Given the description of an element on the screen output the (x, y) to click on. 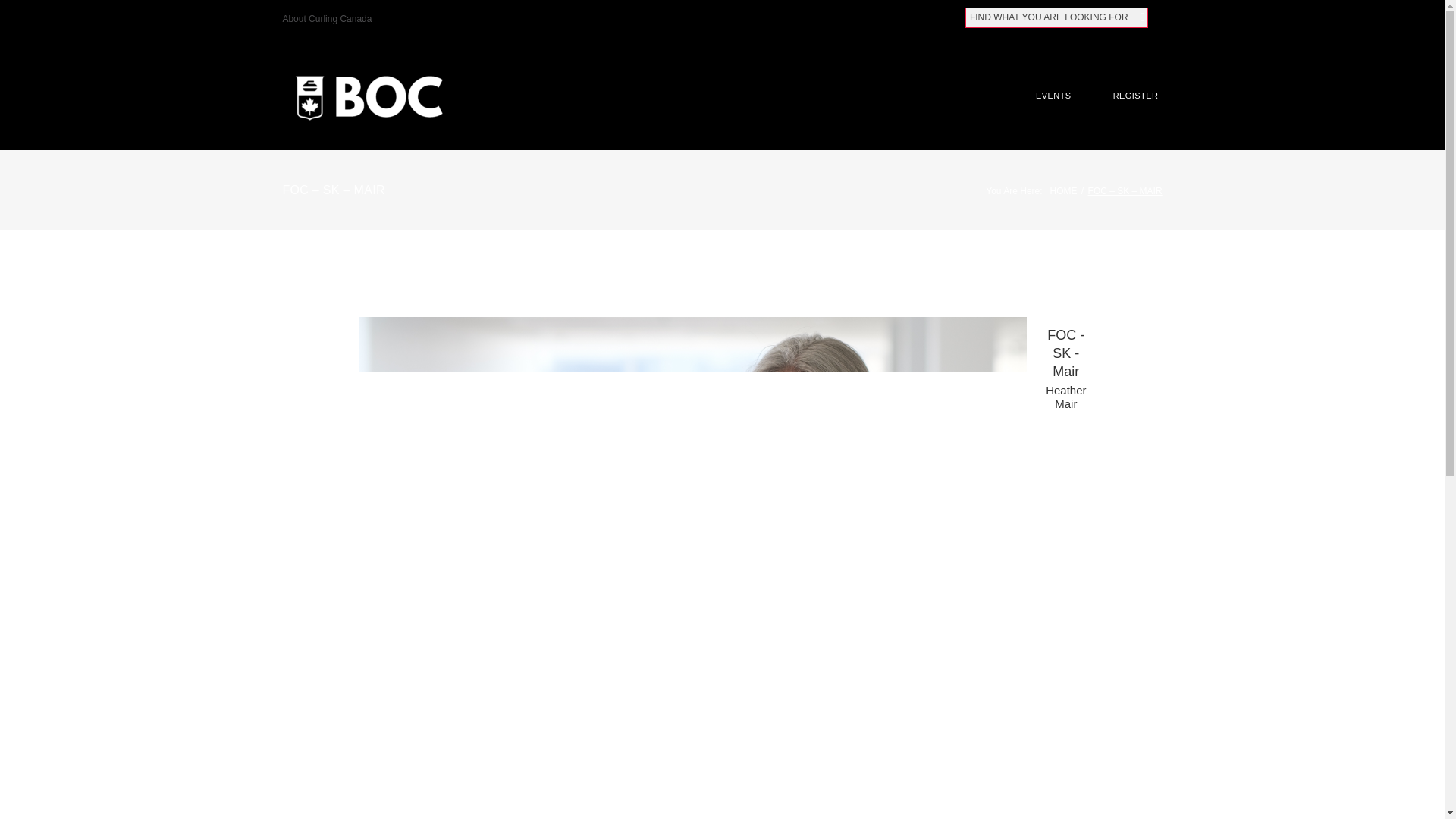
REGISTER (1135, 97)
EVENTS (1053, 97)
Home (1063, 190)
HOME (1063, 190)
About Curling Canada (326, 19)
